Given the description of an element on the screen output the (x, y) to click on. 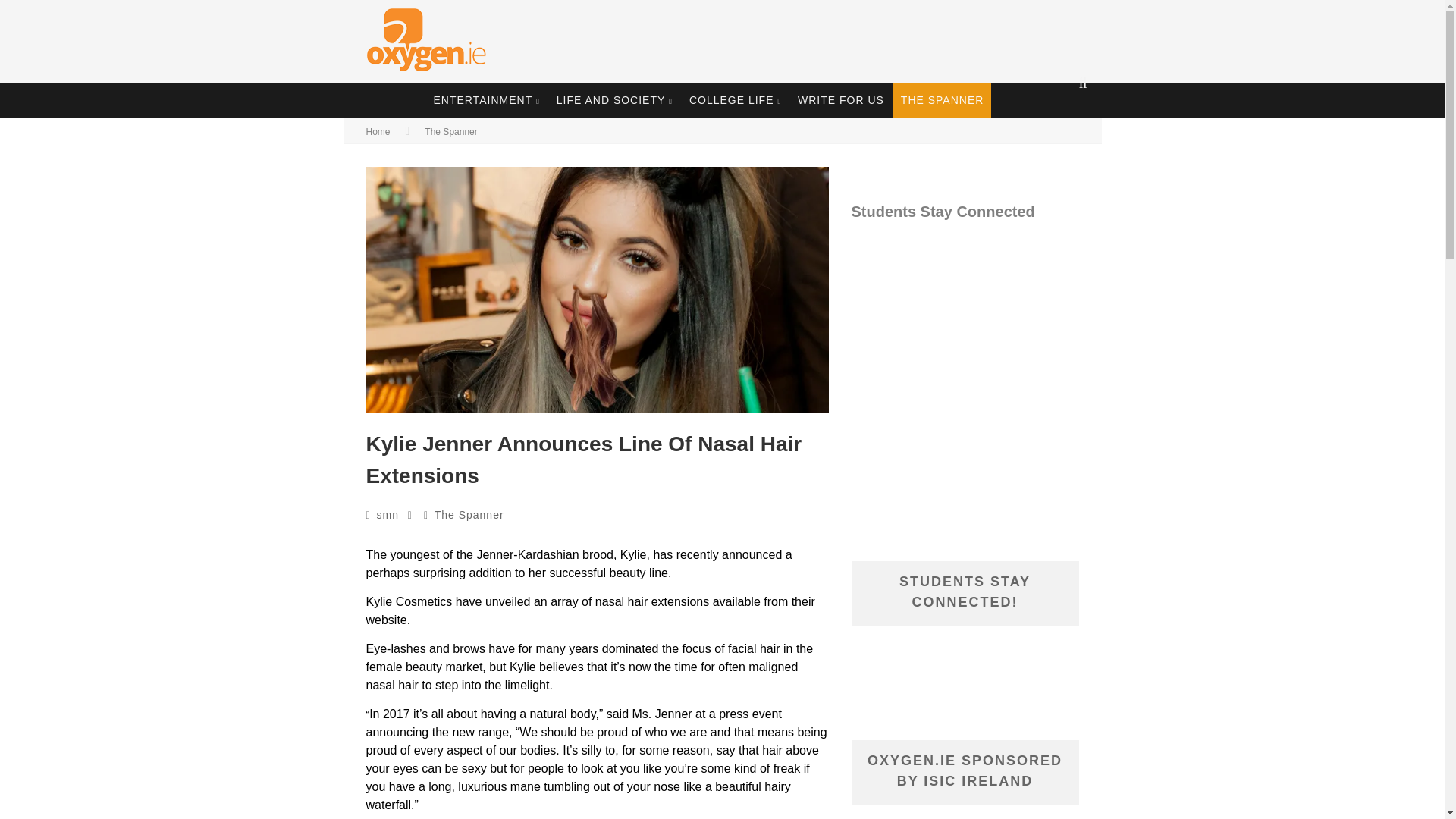
ENTERTAINMENT (486, 100)
View all posts in The Spanner (451, 131)
LIFE AND SOCIETY (613, 100)
Posts from Instagram (964, 317)
View all posts in The Spanner (468, 514)
